Given the description of an element on the screen output the (x, y) to click on. 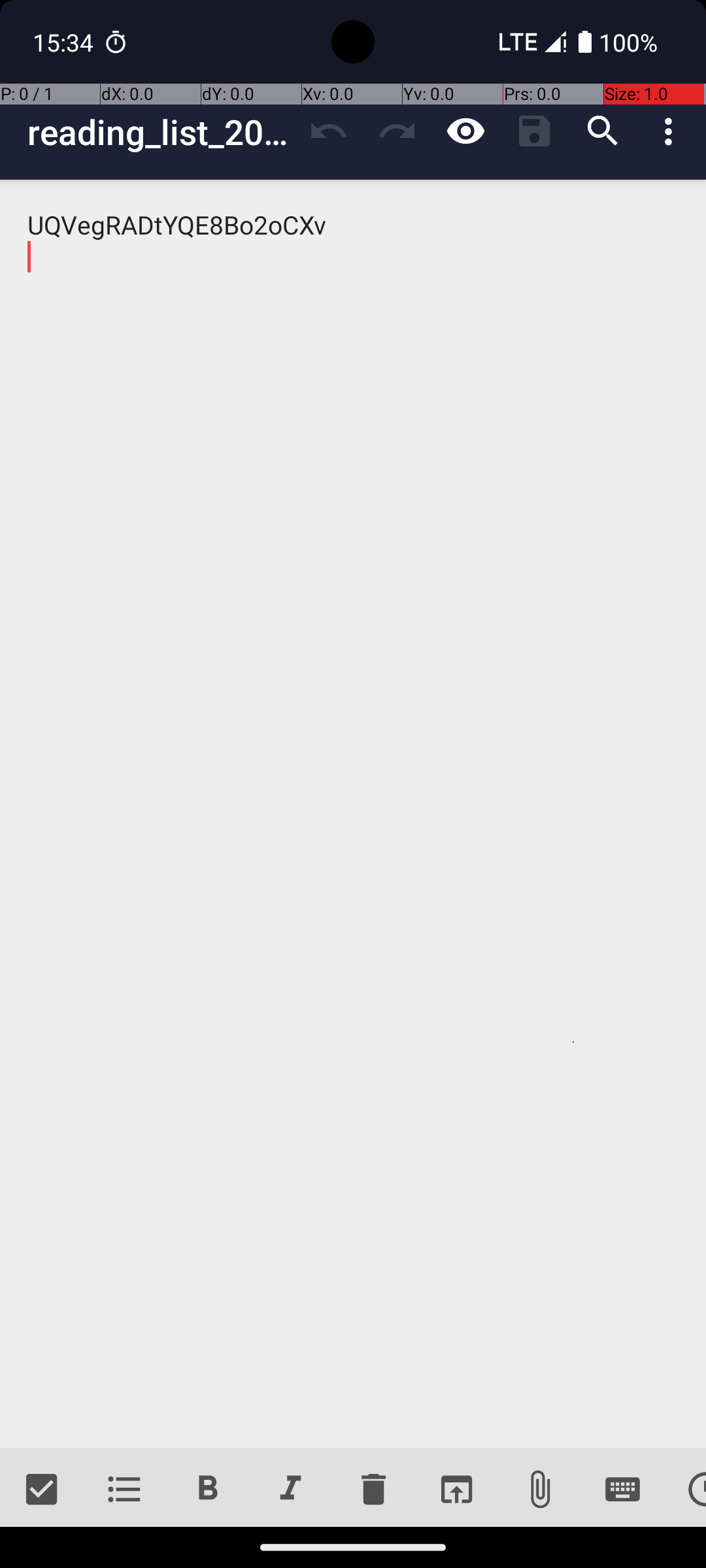
reading_list_2024_copy Element type: android.widget.TextView (160, 131)
UQVegRADtYQE8Bo2oCXv
 Element type: android.widget.EditText (353, 813)
